Given the description of an element on the screen output the (x, y) to click on. 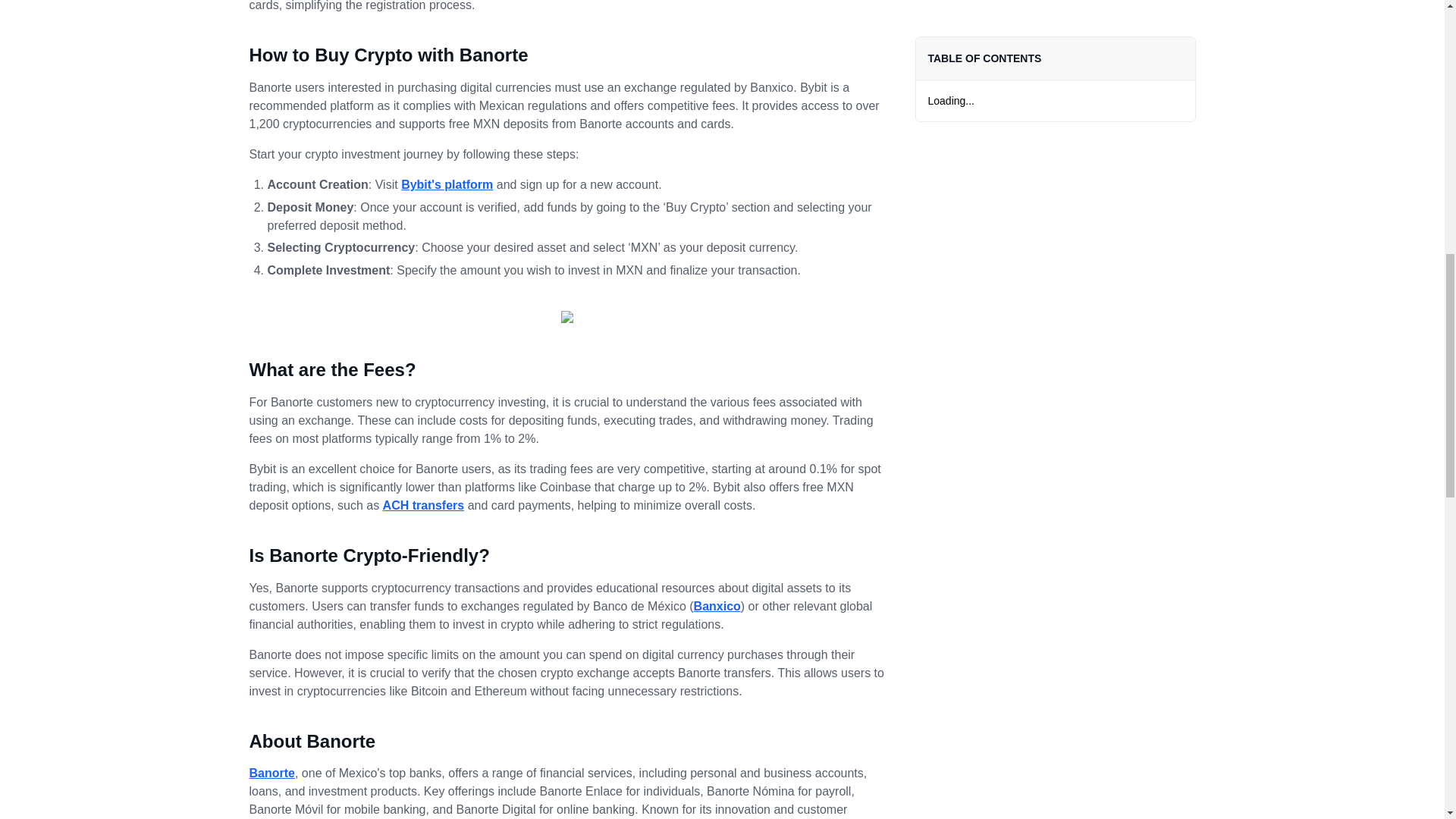
Bybit's platform (447, 184)
Banorte (271, 772)
Banxico (717, 605)
ACH transfers (423, 504)
